Given the description of an element on the screen output the (x, y) to click on. 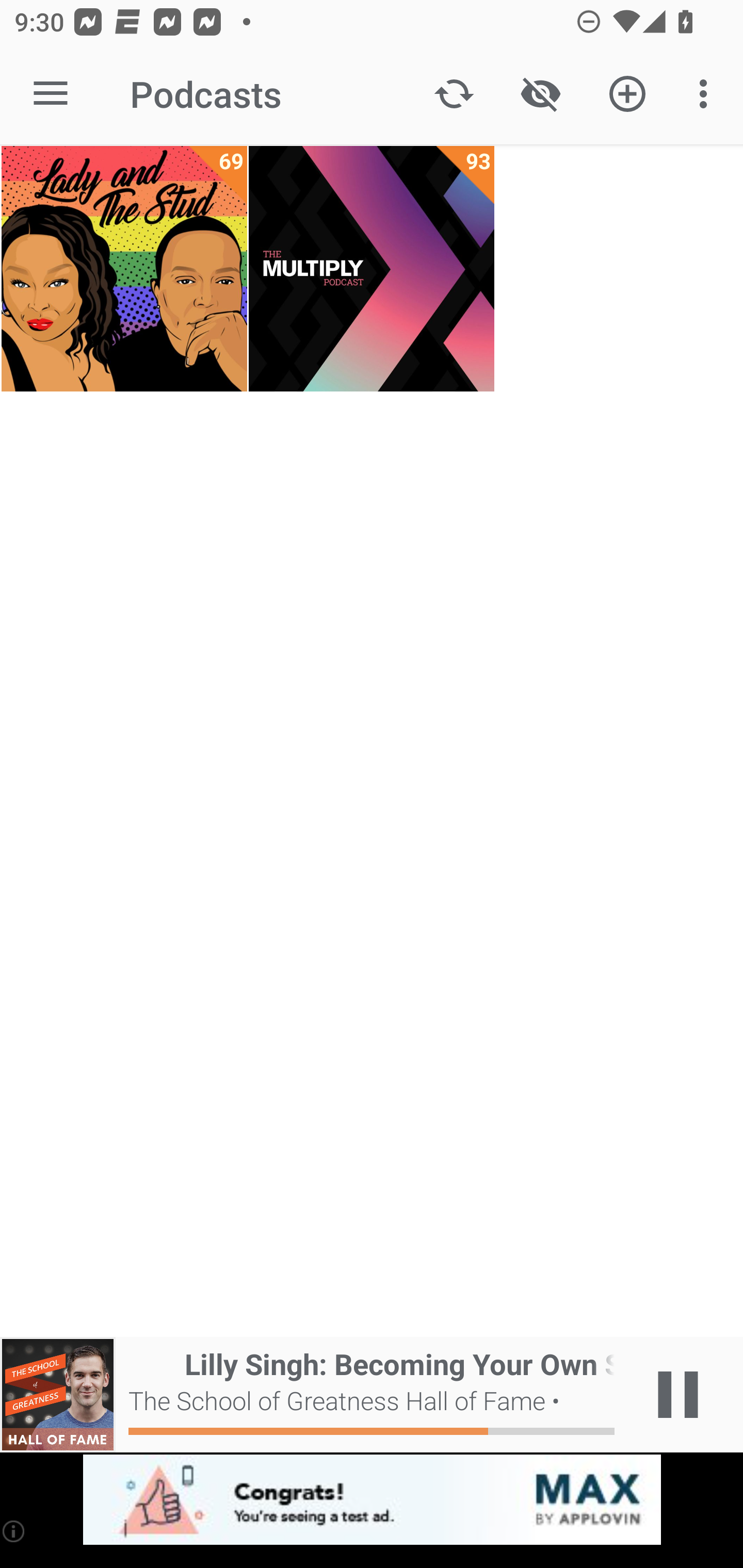
Open navigation sidebar (50, 93)
Update (453, 93)
Show / Hide played content (540, 93)
Add new Podcast (626, 93)
More options (706, 93)
Lady and The Stud 69 (124, 268)
The Multiply Podcast 93 (371, 268)
Play / Pause (677, 1394)
app-monetization (371, 1500)
(i) (14, 1531)
